Given the description of an element on the screen output the (x, y) to click on. 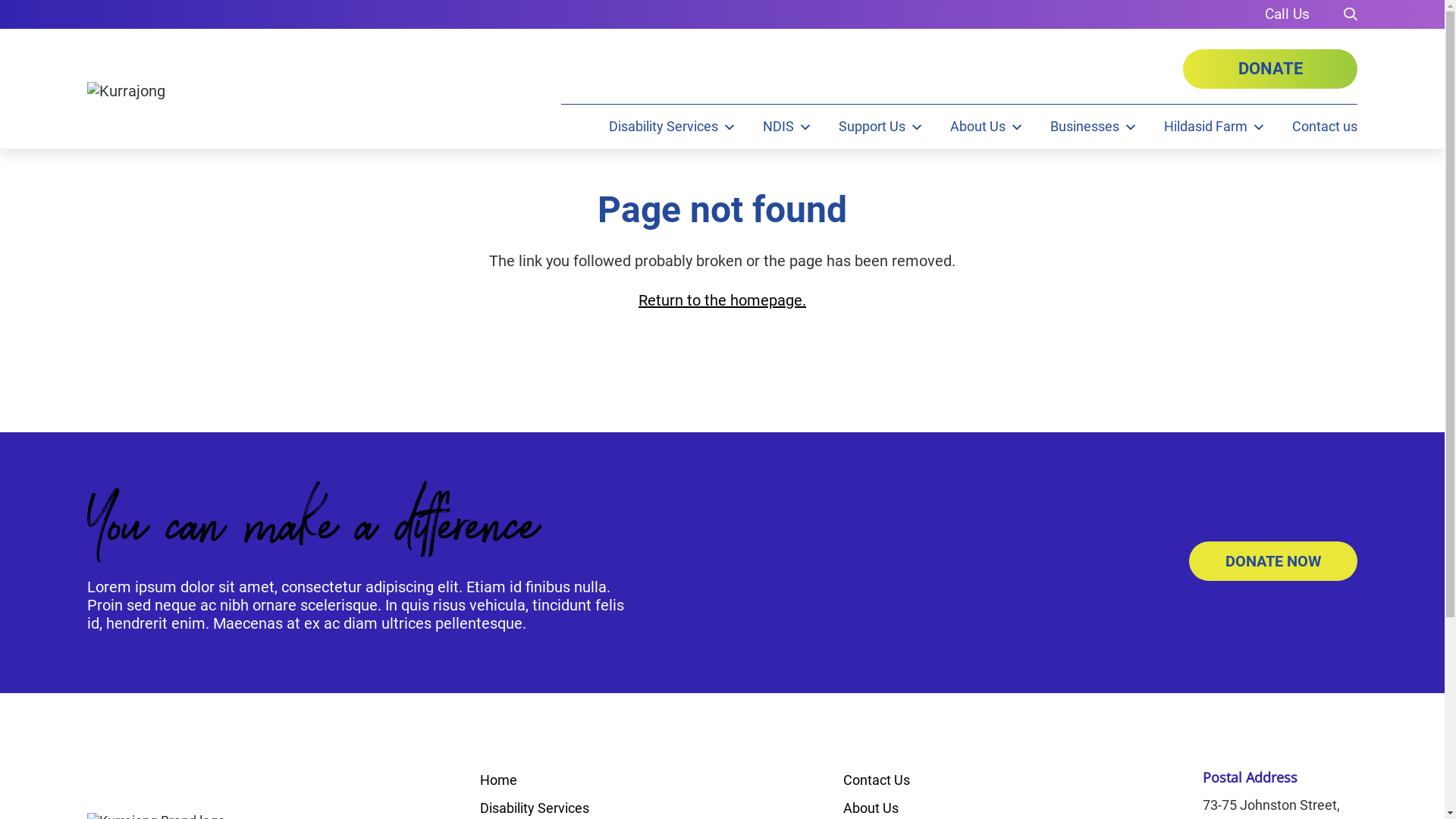
Hildasid Farm Element type: text (1214, 126)
Kurrajong Element type: hover (126, 90)
1300 764 620 Element type: text (1286, 13)
Return to the homepage. Element type: text (722, 300)
About Us Element type: text (870, 807)
Support Us Element type: text (880, 126)
Disability Services Element type: text (534, 807)
Disability Services Element type: text (672, 126)
DONATE Element type: text (1270, 68)
NDIS Element type: text (787, 126)
About Us Element type: text (986, 126)
Contact Us Element type: text (876, 779)
DONATE NOW Element type: text (1273, 560)
Contact us Element type: text (1324, 126)
Businesses Element type: text (1093, 126)
Home Element type: text (498, 779)
